Given the description of an element on the screen output the (x, y) to click on. 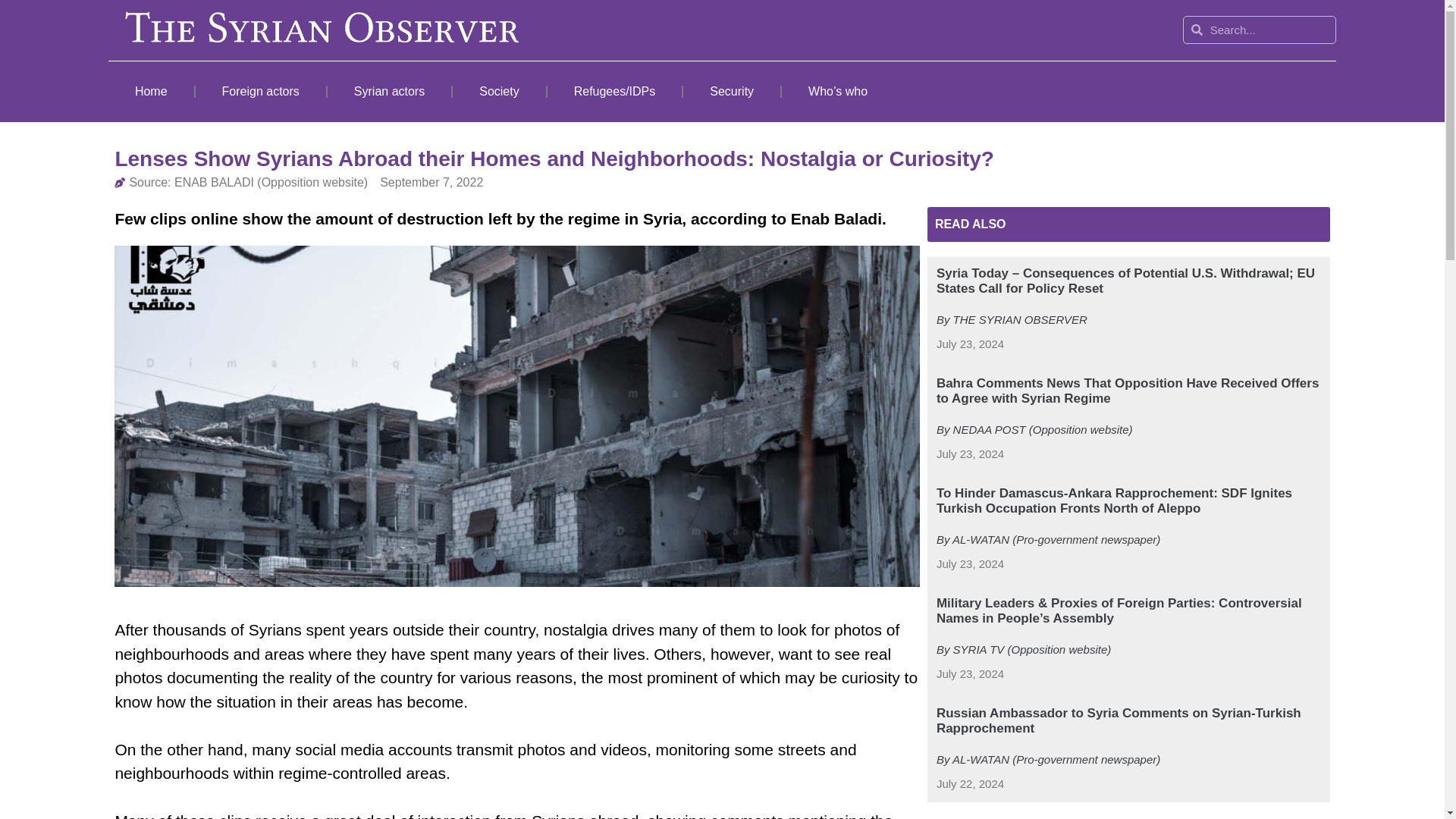
July 23, 2024 (970, 454)
Security (731, 91)
July 23, 2024 (970, 564)
July 22, 2024 (970, 784)
July 23, 2024 (970, 343)
Society (498, 91)
Home (150, 91)
Foreign actors (260, 91)
Syrian actors (389, 91)
July 23, 2024 (970, 674)
